Given the description of an element on the screen output the (x, y) to click on. 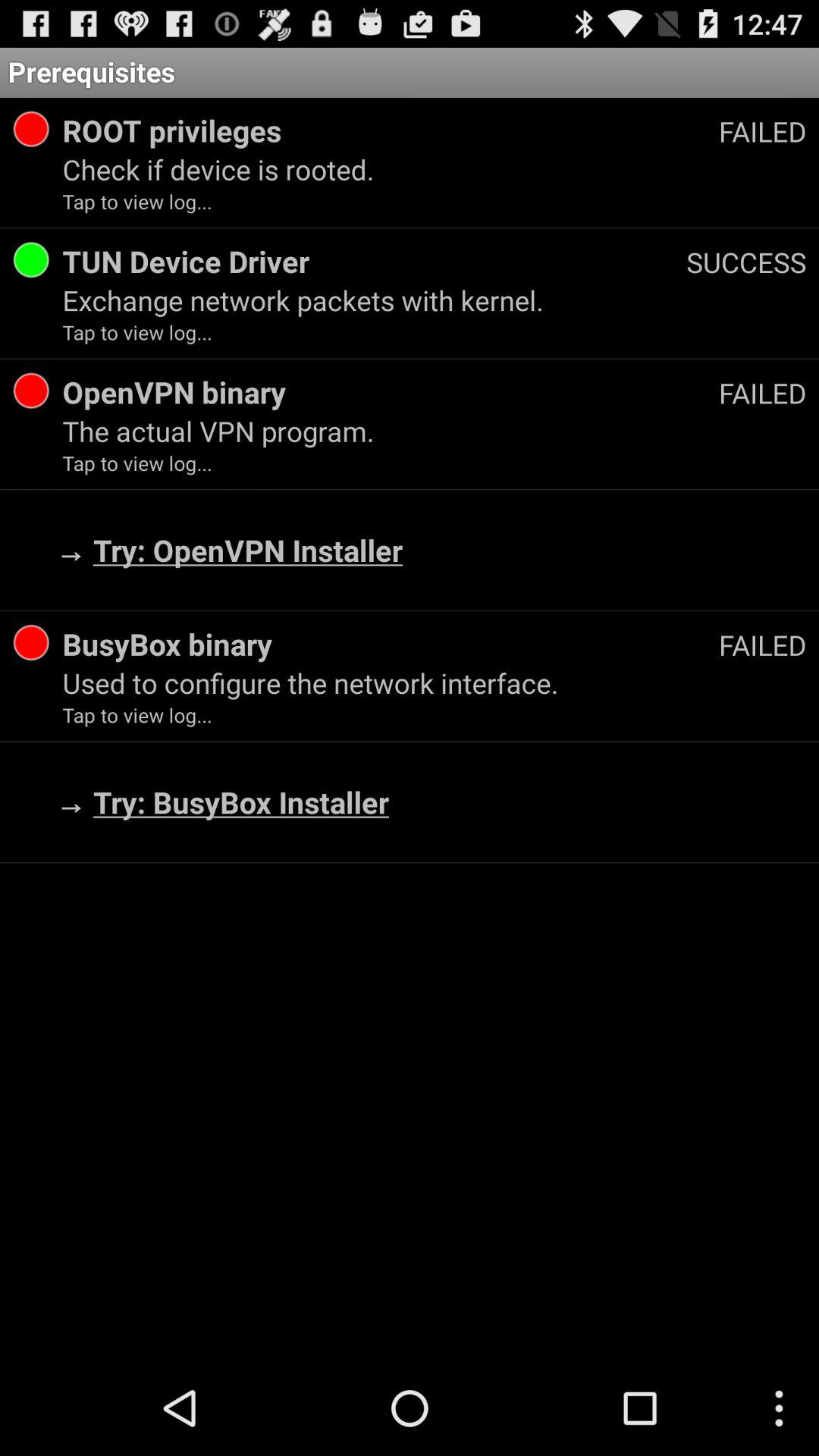
click app next to failed icon (390, 130)
